Given the description of an element on the screen output the (x, y) to click on. 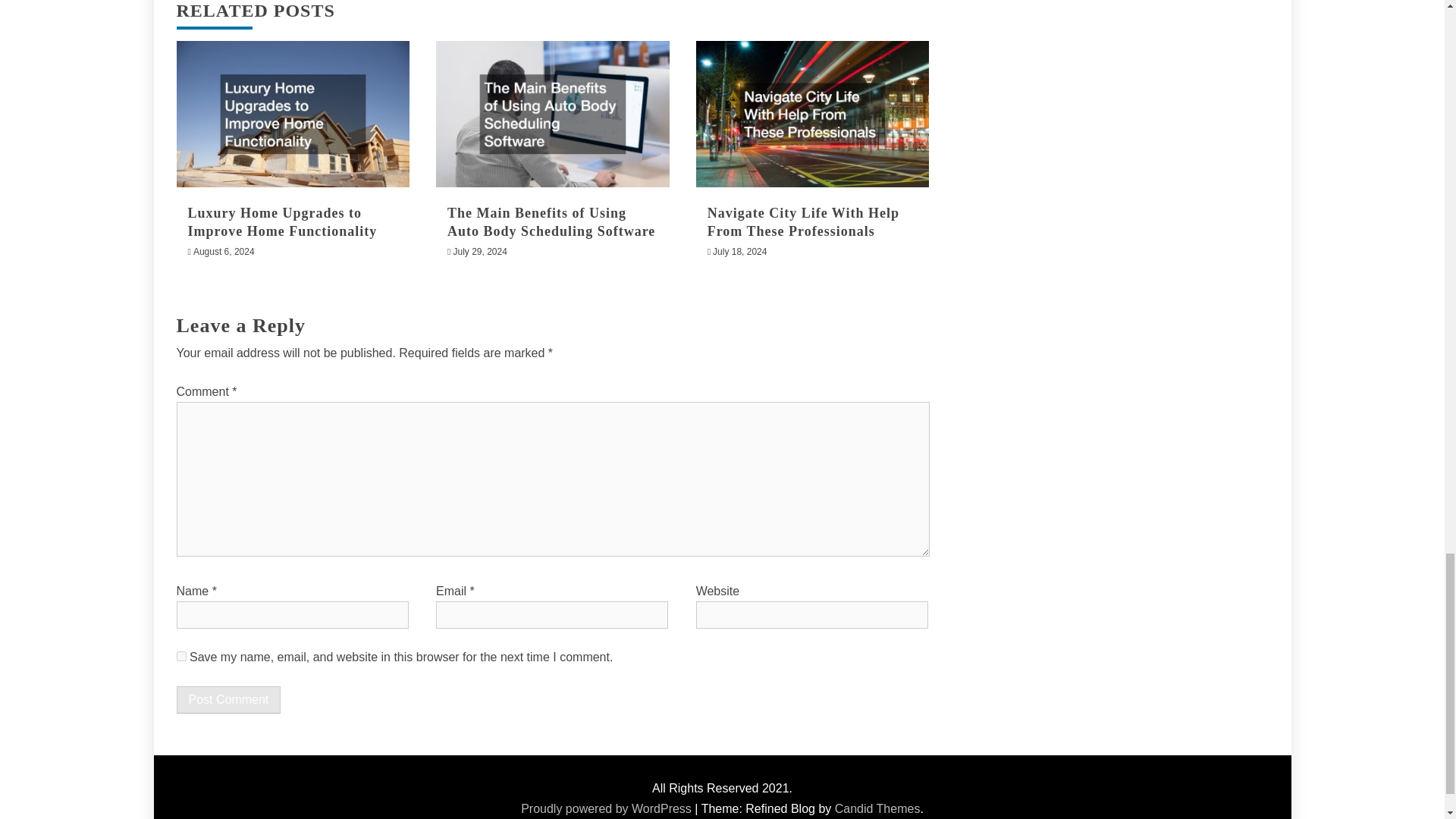
Post Comment (228, 699)
The Main Benefits of Using Auto Body Scheduling Software (550, 221)
Post Comment (228, 699)
Navigate City Life With Help From These Professionals (803, 221)
July 29, 2024 (479, 251)
August 6, 2024 (223, 251)
July 18, 2024 (740, 251)
Luxury Home Upgrades to Improve Home Functionality (282, 221)
yes (181, 655)
